Given the description of an element on the screen output the (x, y) to click on. 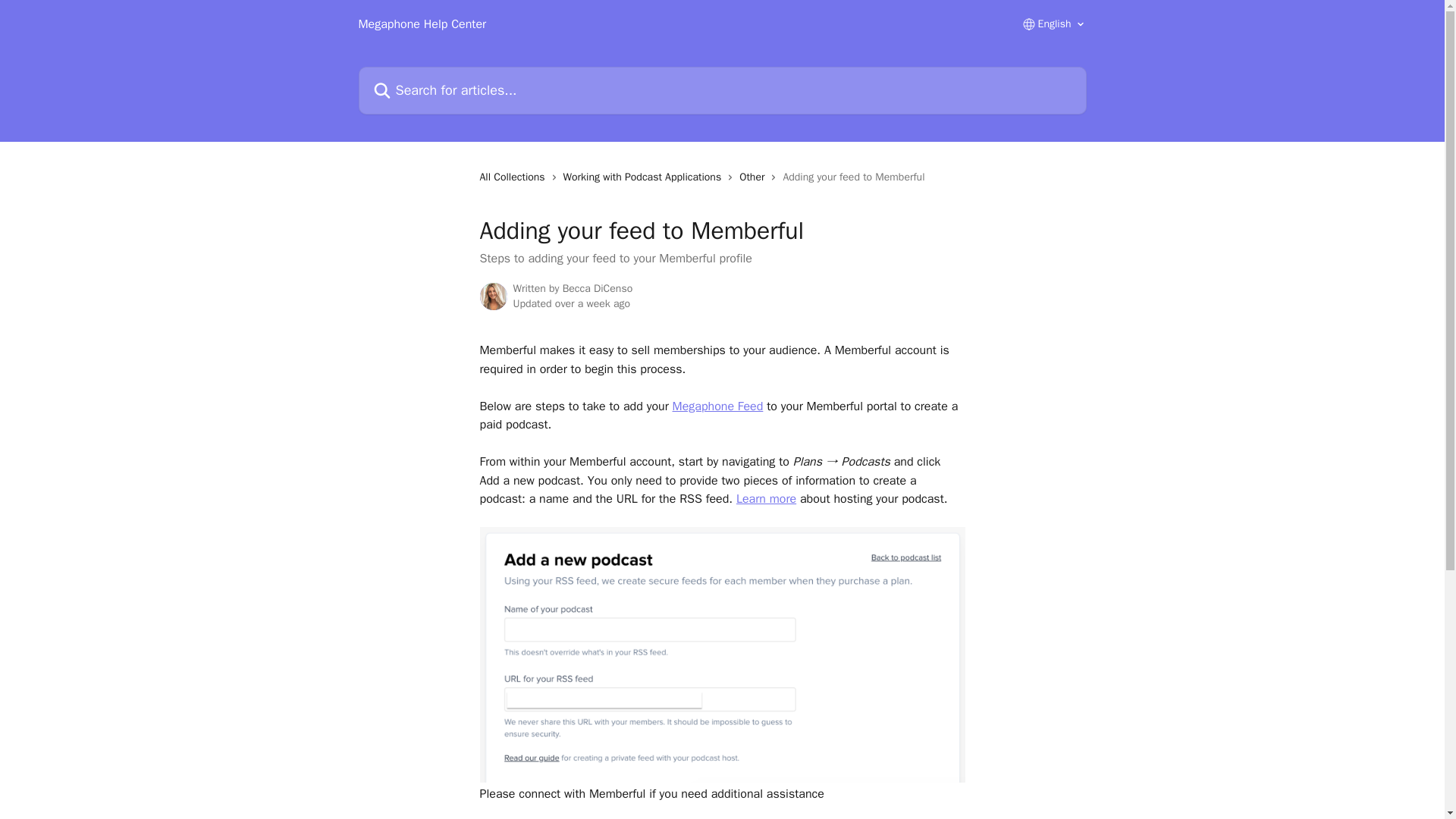
Megaphone Feed (717, 406)
All Collections (514, 176)
Learn more (766, 498)
Other (754, 176)
Working with Podcast Applications (645, 176)
